Given the description of an element on the screen output the (x, y) to click on. 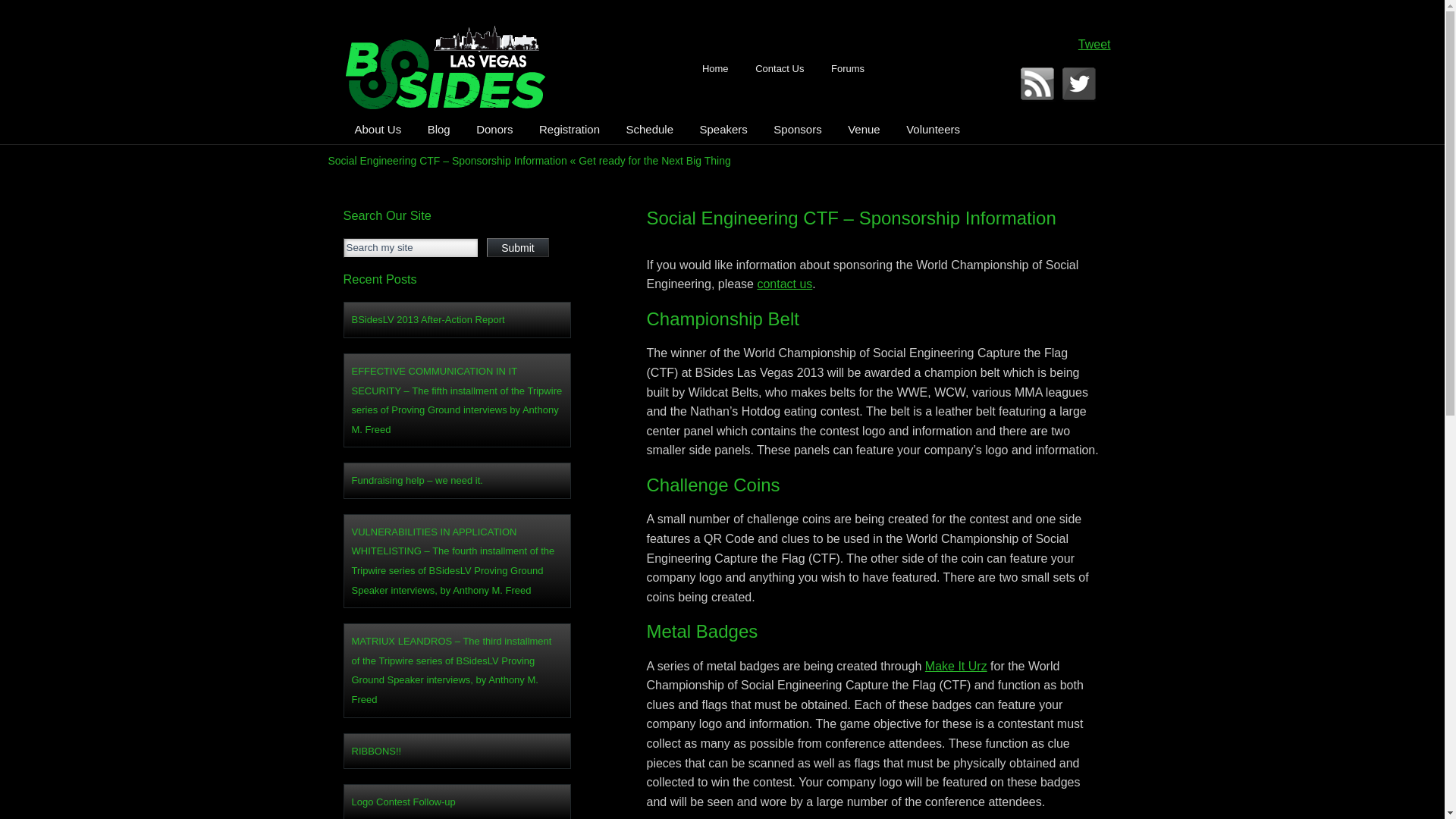
Make It Urz (955, 666)
Site RSS Feed (1039, 85)
Blog (438, 129)
Logo Contest Follow-up (457, 802)
Contact Us (779, 68)
BSidesLV 2013 After-Action Report (457, 320)
Volunteers (933, 129)
Home (714, 68)
Tweet (1094, 43)
Search my site (409, 247)
Sponsors (796, 129)
Schedule (649, 129)
Registration (569, 129)
About Us (377, 129)
Submit (517, 247)
